Given the description of an element on the screen output the (x, y) to click on. 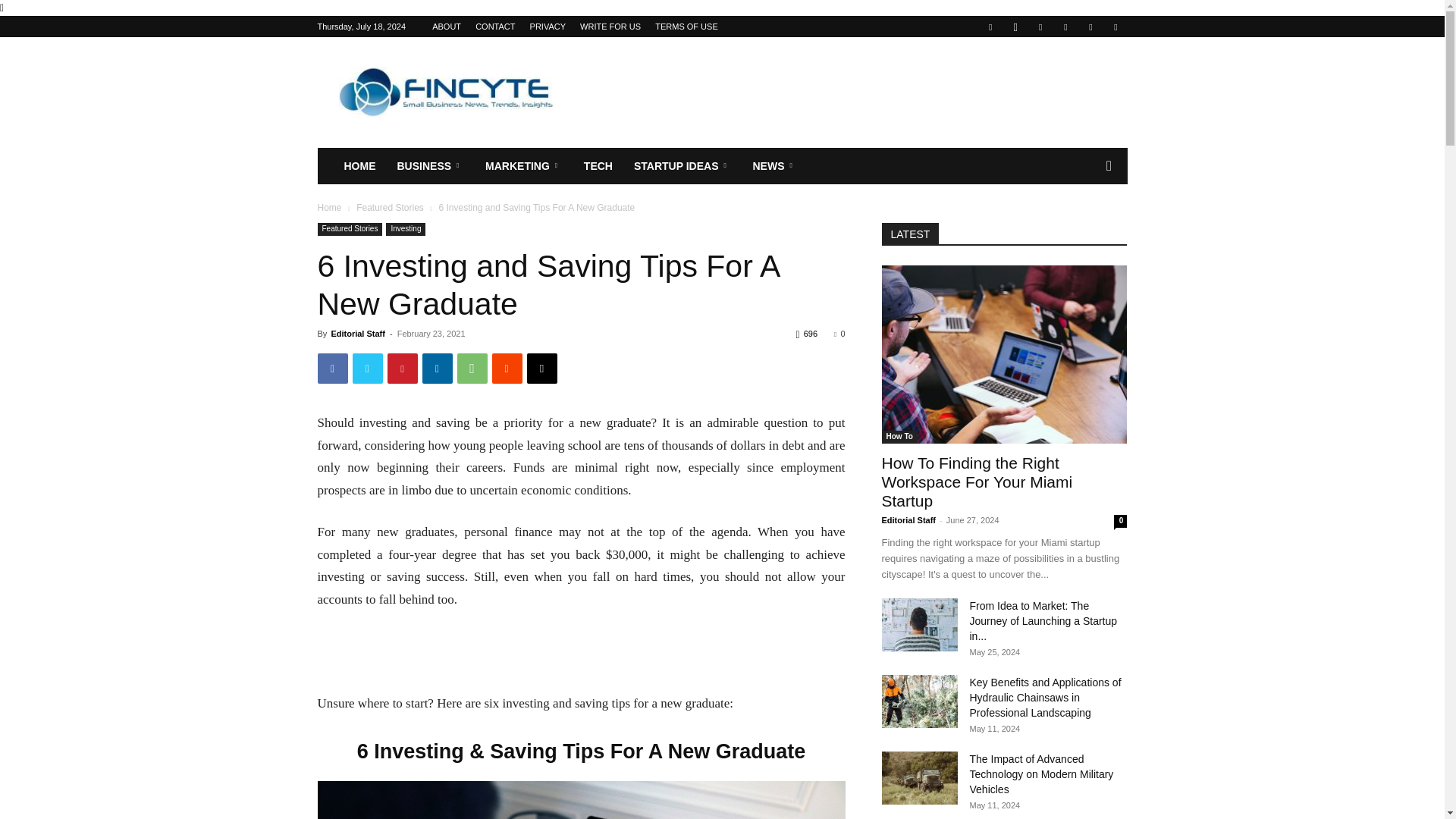
Twitter (1090, 25)
PRIVACY (547, 26)
Instagram (1015, 25)
ABOUT (446, 26)
CONTACT (495, 26)
Youtube (1114, 25)
TERMS OF USE (686, 26)
WRITE FOR US (609, 26)
Facebook (989, 25)
Linkedin (1040, 25)
